Given the description of an element on the screen output the (x, y) to click on. 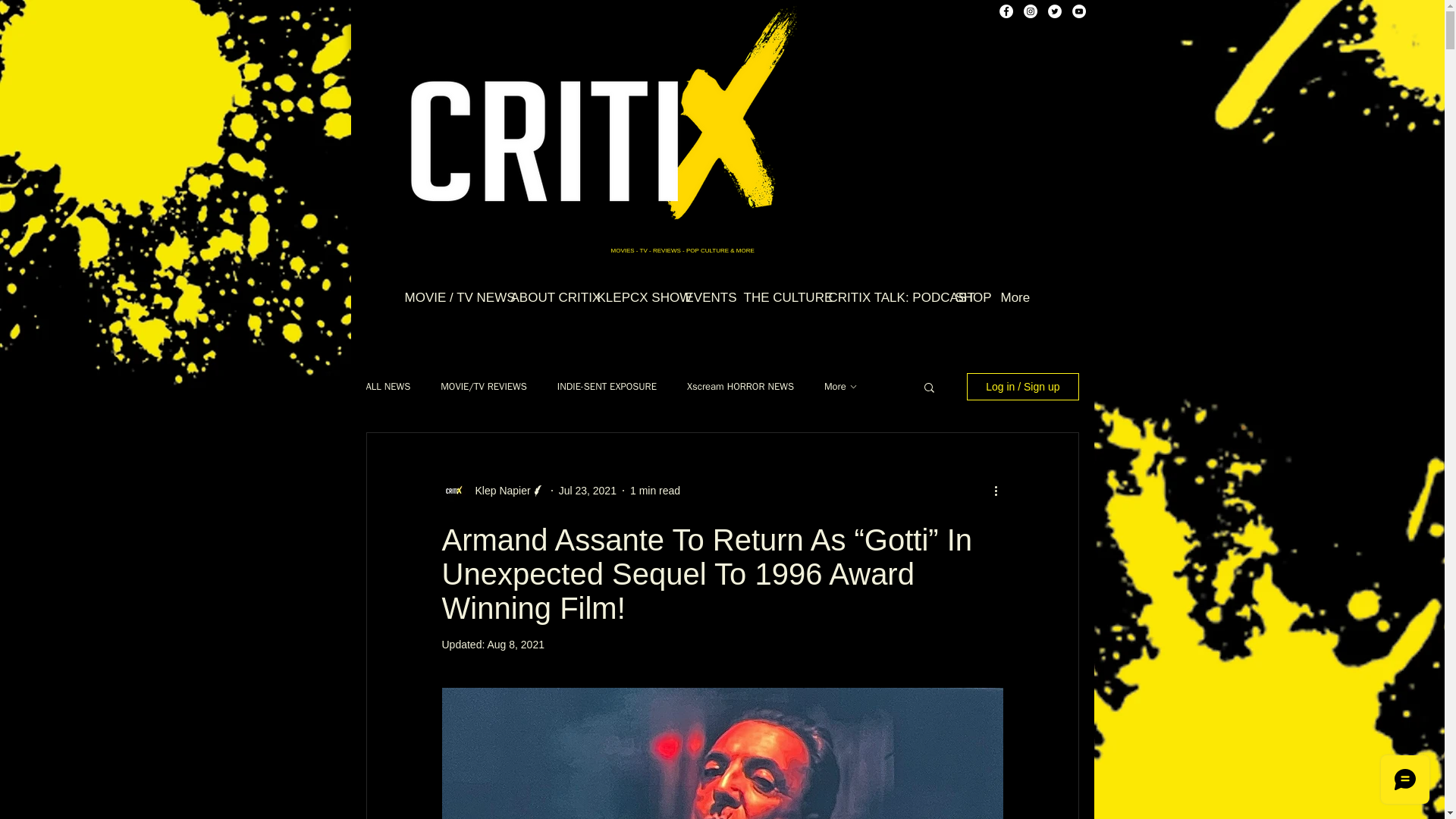
Aug 8, 2021 (515, 644)
Klep Napier (492, 490)
SHOP (969, 297)
ALL NEWS (387, 386)
THE CULTURE (778, 297)
EVENTS (707, 297)
INDIE-SENT EXPOSURE (606, 386)
1 min read (654, 490)
CRITIX TALK: PODCAST (884, 297)
UNIVERSAL PICTURES (964, 177)
